Given the description of an element on the screen output the (x, y) to click on. 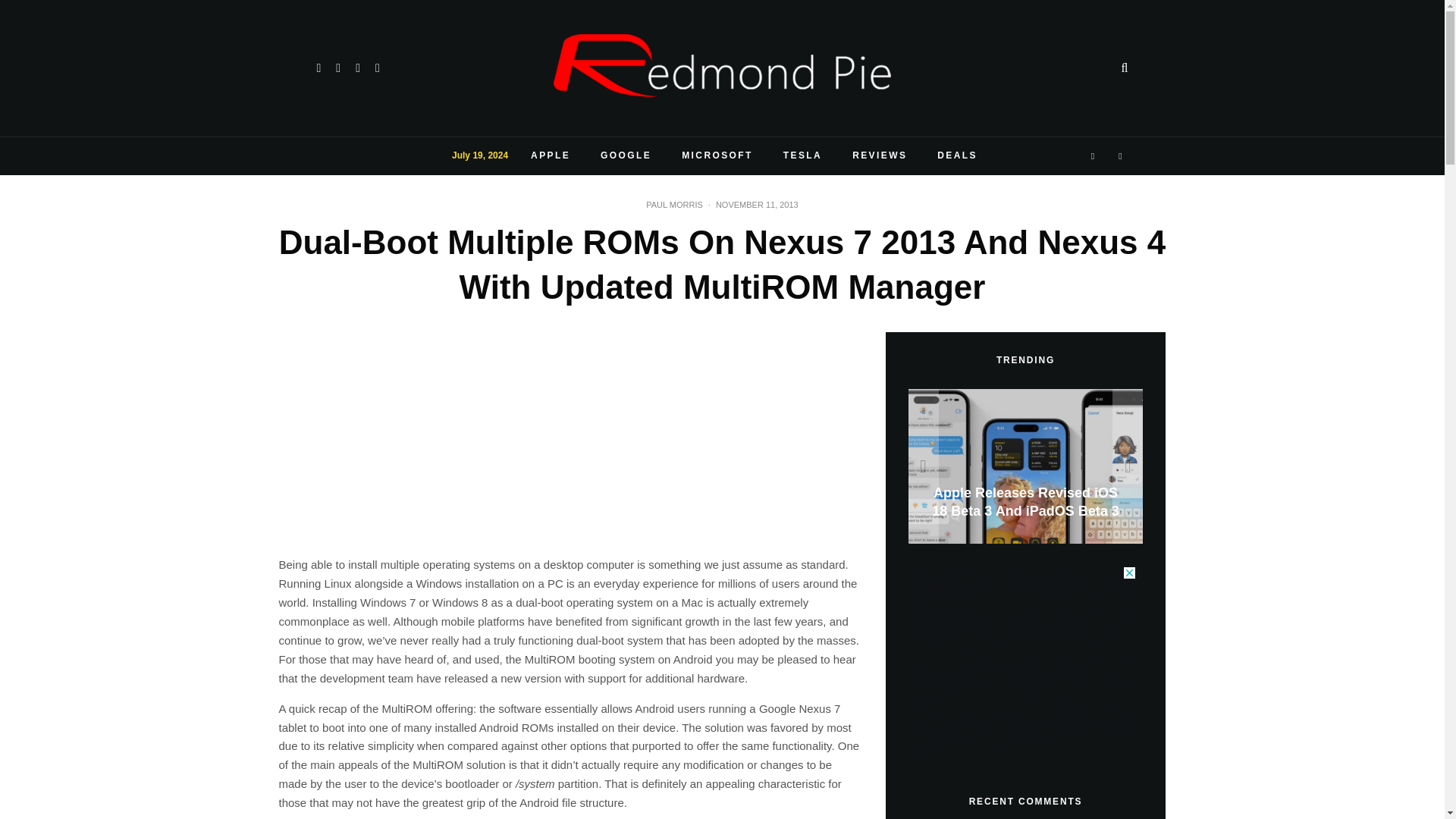
MICROSOFT (717, 156)
APPLE (550, 156)
GOOGLE (625, 156)
3rd party ad content (1021, 660)
TESLA (802, 156)
